Given the description of an element on the screen output the (x, y) to click on. 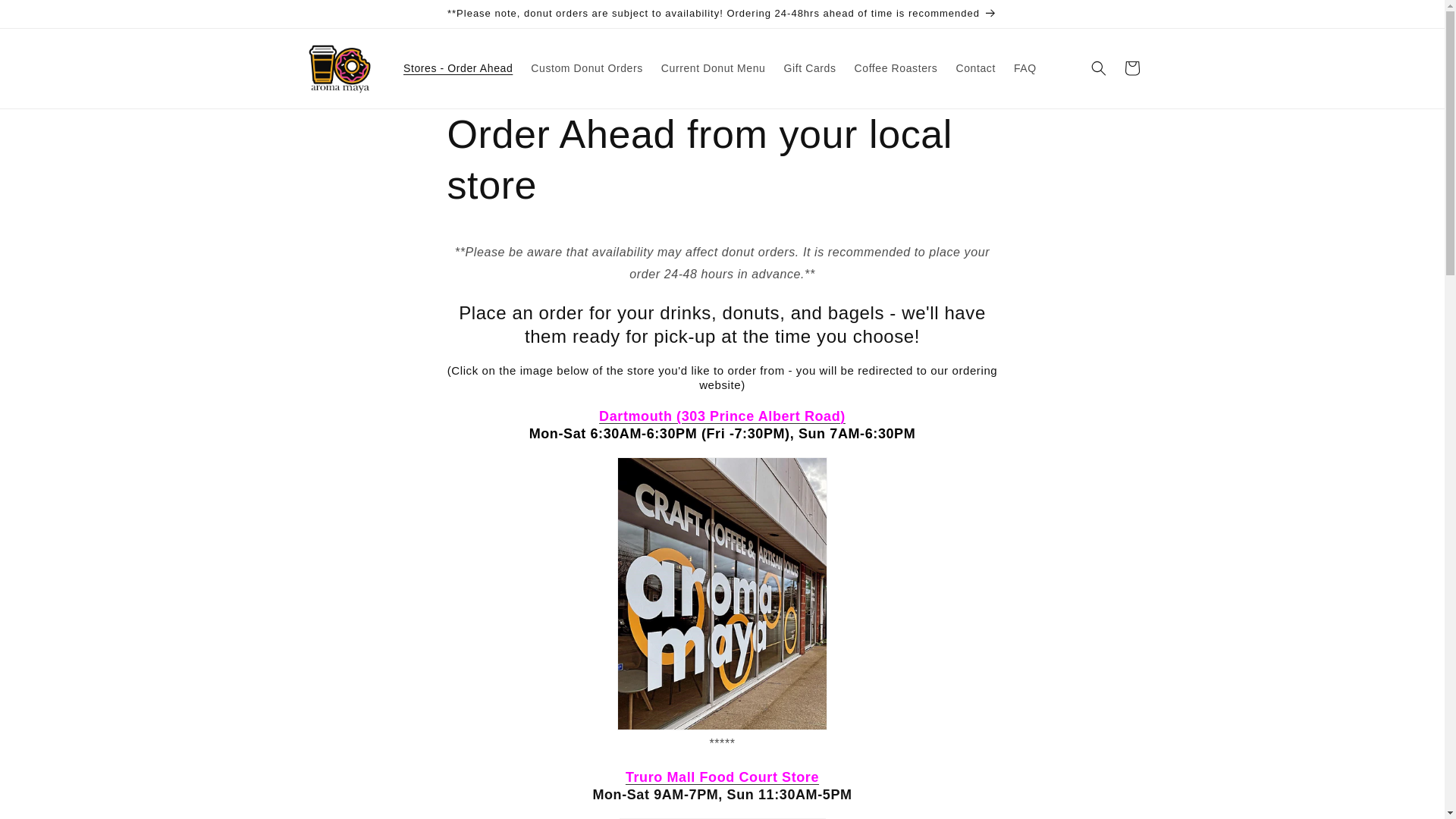
Custom Donut Orders (586, 68)
Coffee Roasters (896, 68)
Cart (1131, 68)
Contact (975, 68)
Gift Cards (809, 68)
Truro Mall Order Ahead (722, 776)
Skip to content (45, 17)
Truro Mall Food Court Store (722, 776)
Dartmouth Order Ahead (721, 416)
Stores - Order Ahead (457, 68)
FAQ (1024, 68)
Current Donut Menu (713, 68)
